Given the description of an element on the screen output the (x, y) to click on. 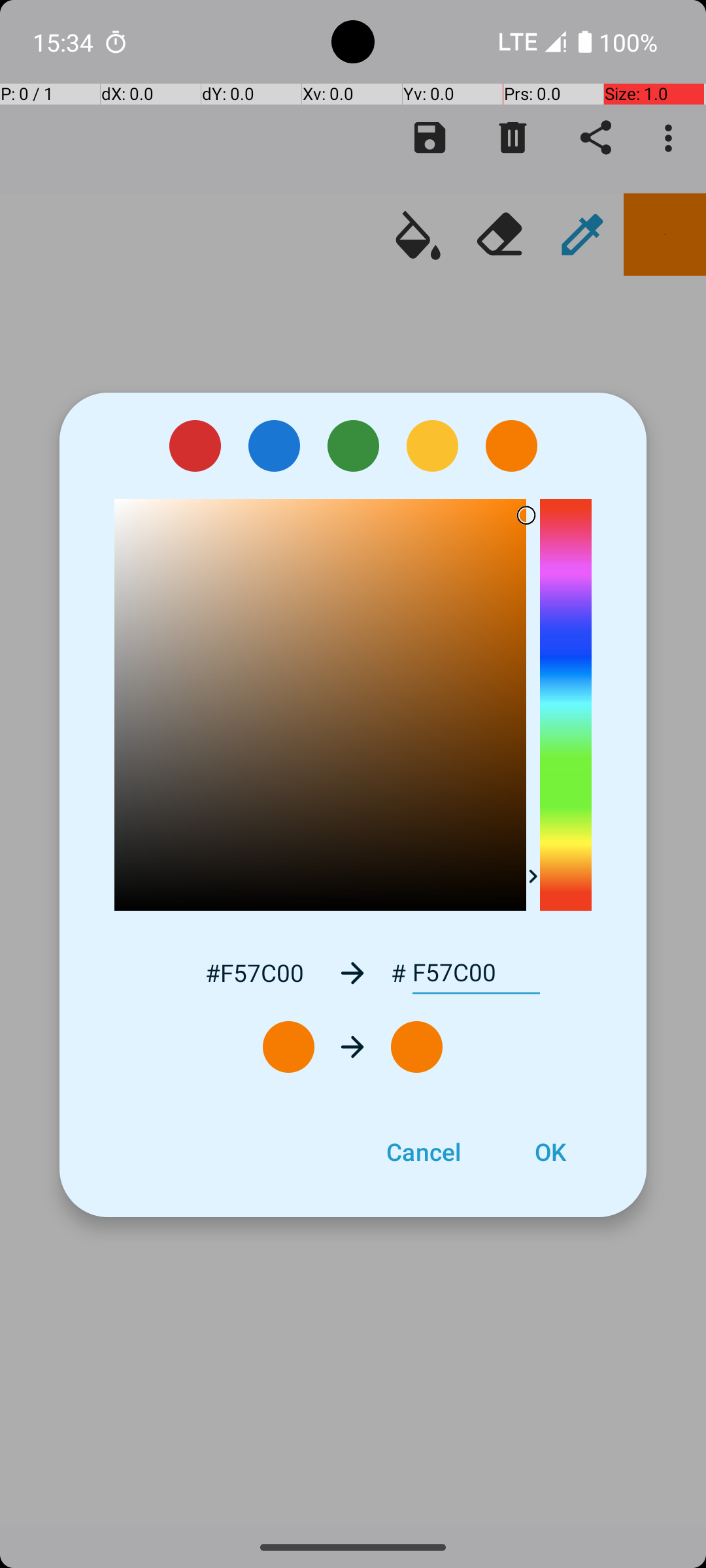
#F57C00 Element type: android.widget.TextView (254, 972)
F57C00 Element type: android.widget.EditText (475, 972)
